Given the description of an element on the screen output the (x, y) to click on. 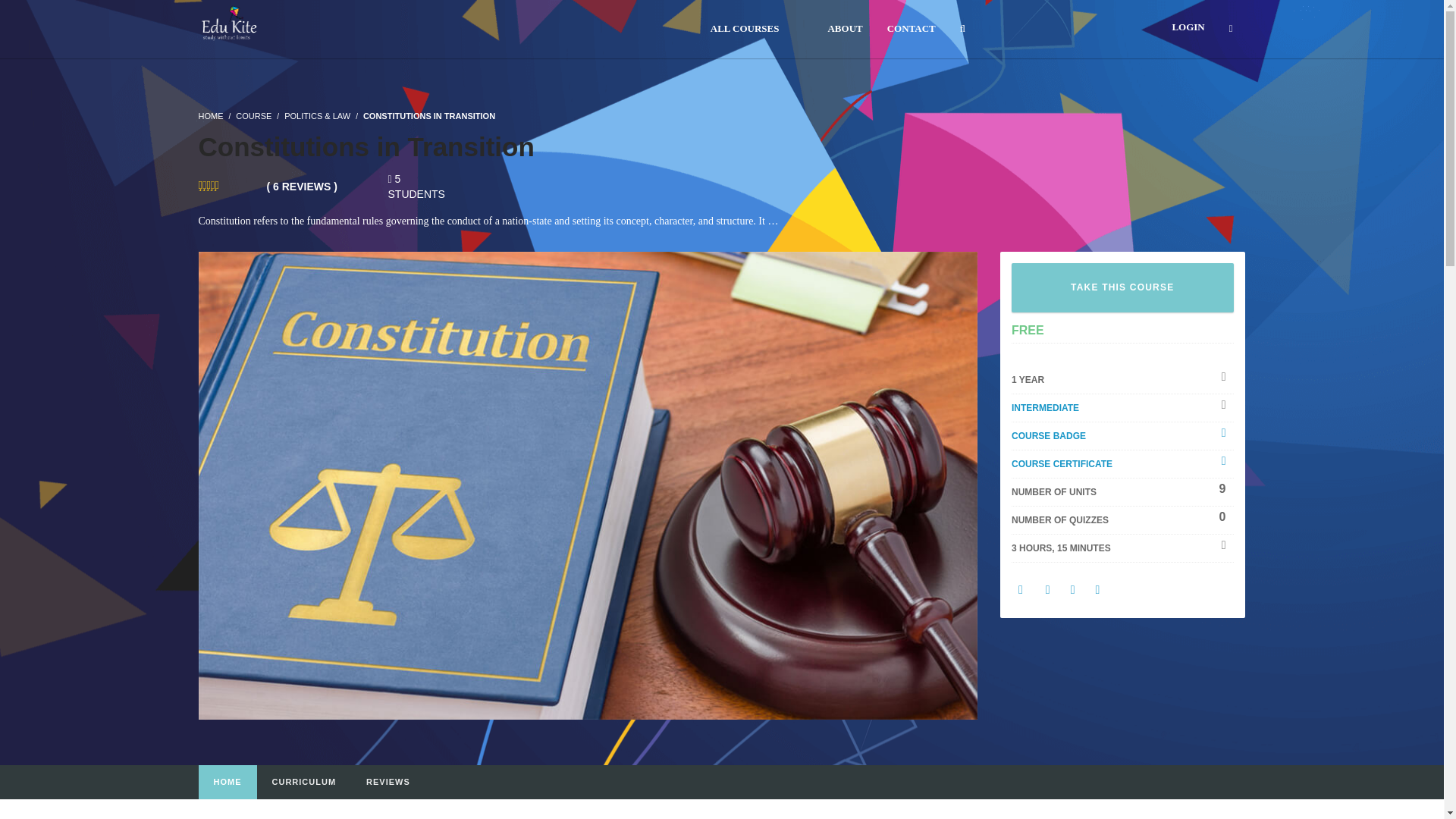
HOME (227, 782)
HOME (211, 115)
TAKE THIS COURSE (1122, 287)
INTERMEDIATE (1044, 407)
CURRICULUM (303, 782)
COURSE (252, 115)
COURSE BADGE (1048, 435)
ALL COURSES (745, 29)
Constitutions in Transition (588, 484)
COURSE CERTIFICATE (1061, 463)
